Given the description of an element on the screen output the (x, y) to click on. 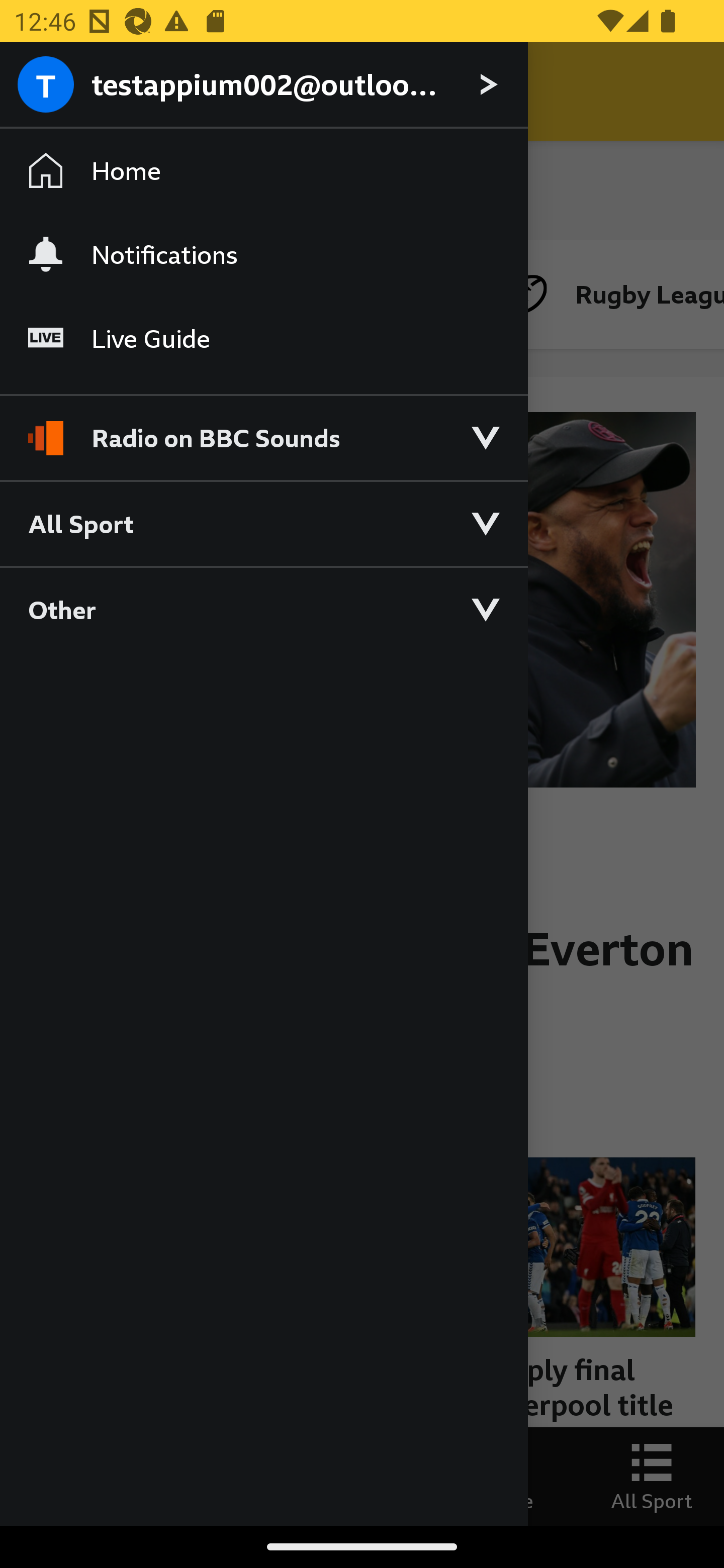
testappium002@outlook.com (263, 85)
Home (263, 170)
Notifications (263, 253)
Live Guide (263, 338)
Radio on BBC Sounds (263, 429)
All Sport (263, 522)
Other (263, 609)
